Given the description of an element on the screen output the (x, y) to click on. 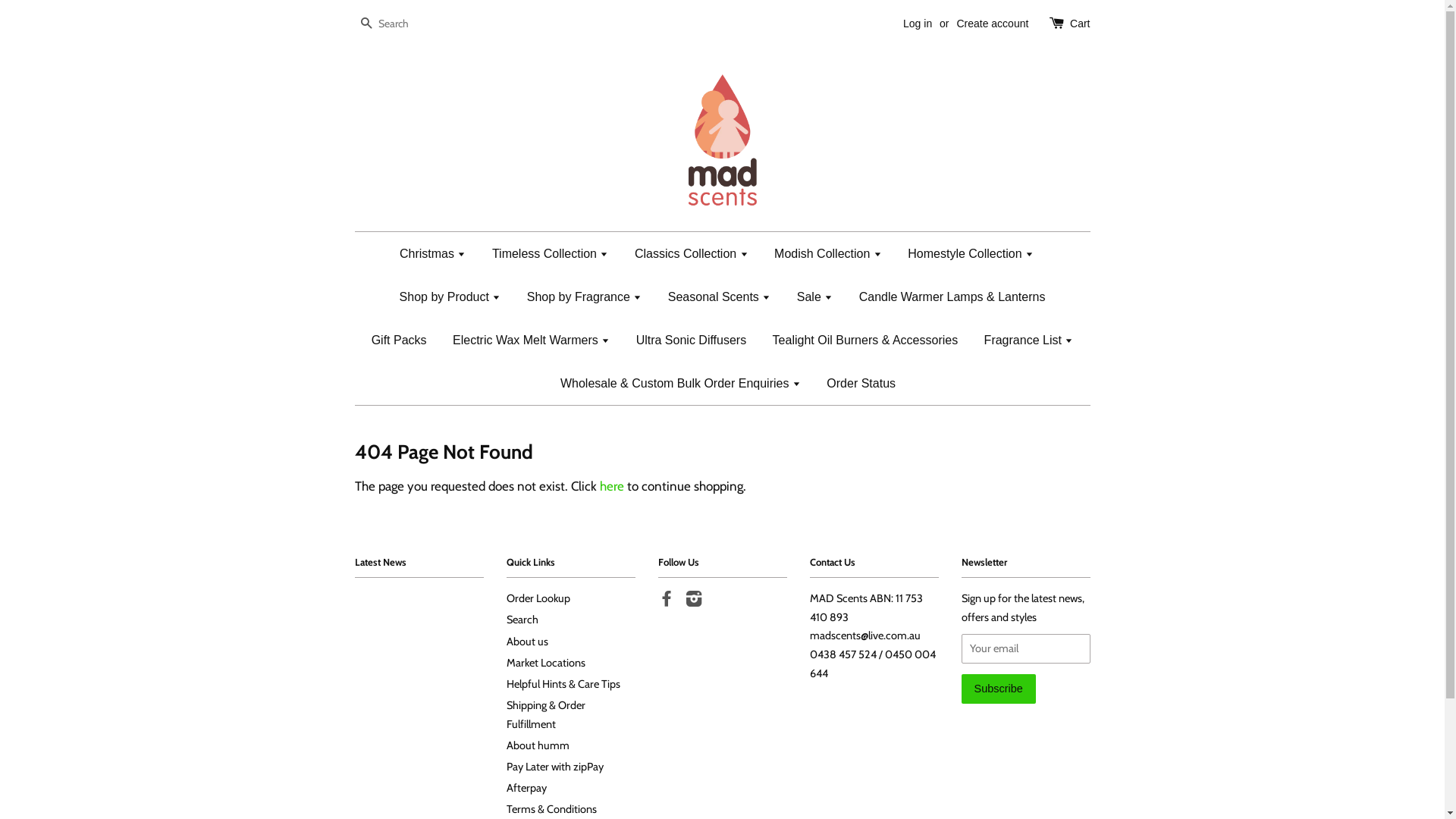
Ultra Sonic Diffusers Element type: text (691, 339)
Shipping & Order Fulfillment Element type: text (545, 714)
Terms & Conditions Element type: text (551, 808)
Tealight Oil Burners & Accessories Element type: text (865, 339)
Instagram Element type: text (693, 601)
Order Lookup Element type: text (538, 598)
Christmas Element type: text (437, 253)
Candle Warmer Lamps & Lanterns Element type: text (952, 296)
Fragrance List Element type: text (1028, 339)
About us Element type: text (527, 641)
Cart Element type: text (1079, 24)
Shop by Fragrance Element type: text (584, 296)
Homestyle Collection Element type: text (970, 253)
Subscribe Element type: text (998, 688)
Shop by Product Element type: text (450, 296)
Gift Packs Element type: text (399, 339)
Market Locations Element type: text (545, 662)
Helpful Hints & Care Tips Element type: text (563, 683)
Wholesale & Custom Bulk Order Enquiries Element type: text (680, 382)
Search Element type: text (365, 24)
Afterpay Element type: text (526, 787)
Search Element type: text (522, 619)
Sale Element type: text (814, 296)
Seasonal Scents Element type: text (719, 296)
Pay Later with zipPay Element type: text (554, 766)
Create account Element type: text (992, 23)
Timeless Collection Element type: text (550, 253)
Latest News Element type: text (380, 561)
Electric Wax Melt Warmers Element type: text (531, 339)
Order Status Element type: text (855, 382)
Log in Element type: text (917, 23)
Facebook Element type: text (666, 601)
Classics Collection Element type: text (691, 253)
here Element type: text (611, 485)
Modish Collection Element type: text (827, 253)
About humm Element type: text (537, 745)
